Given the description of an element on the screen output the (x, y) to click on. 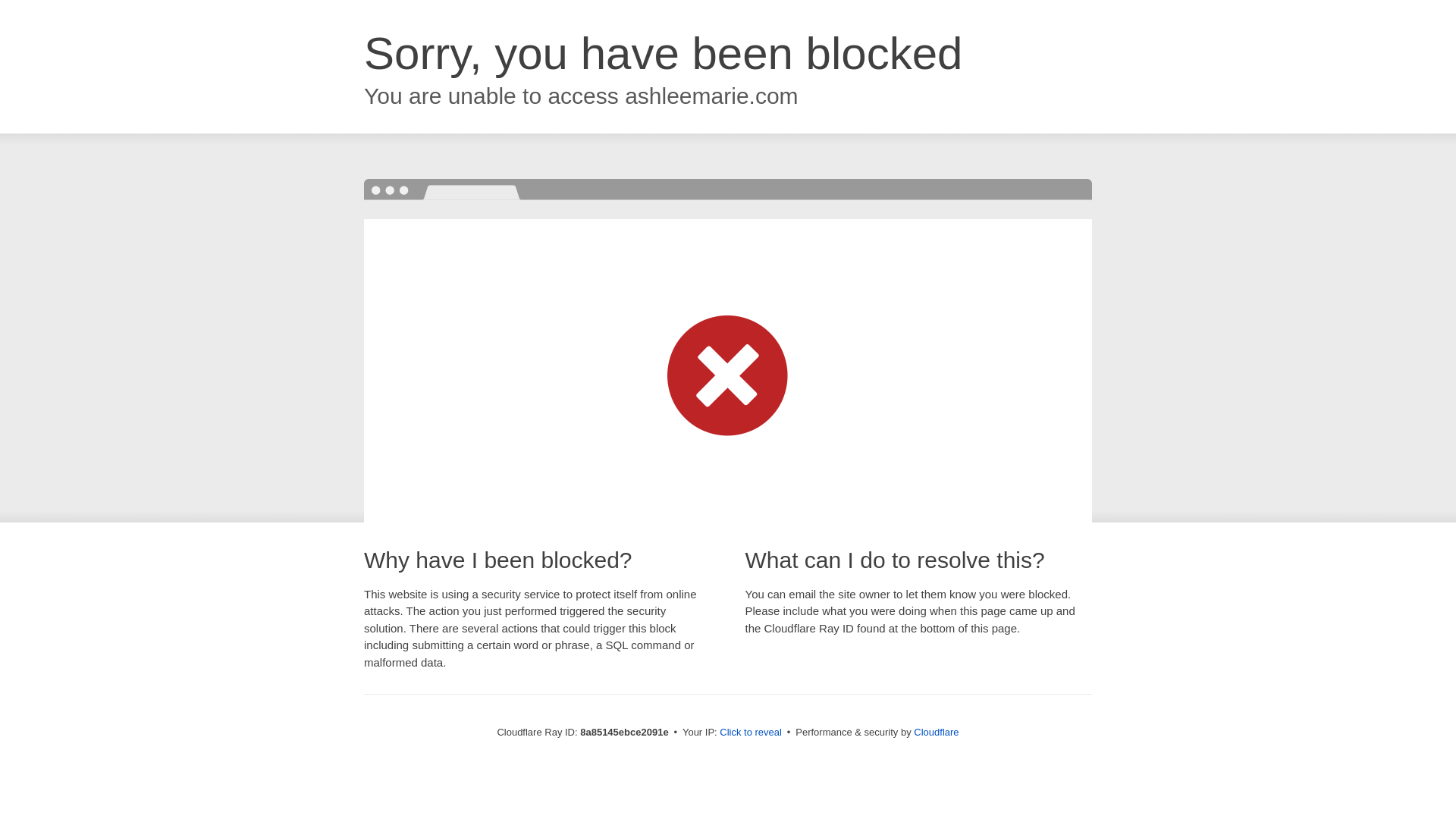
Cloudflare (936, 731)
Click to reveal (750, 732)
